Given the description of an element on the screen output the (x, y) to click on. 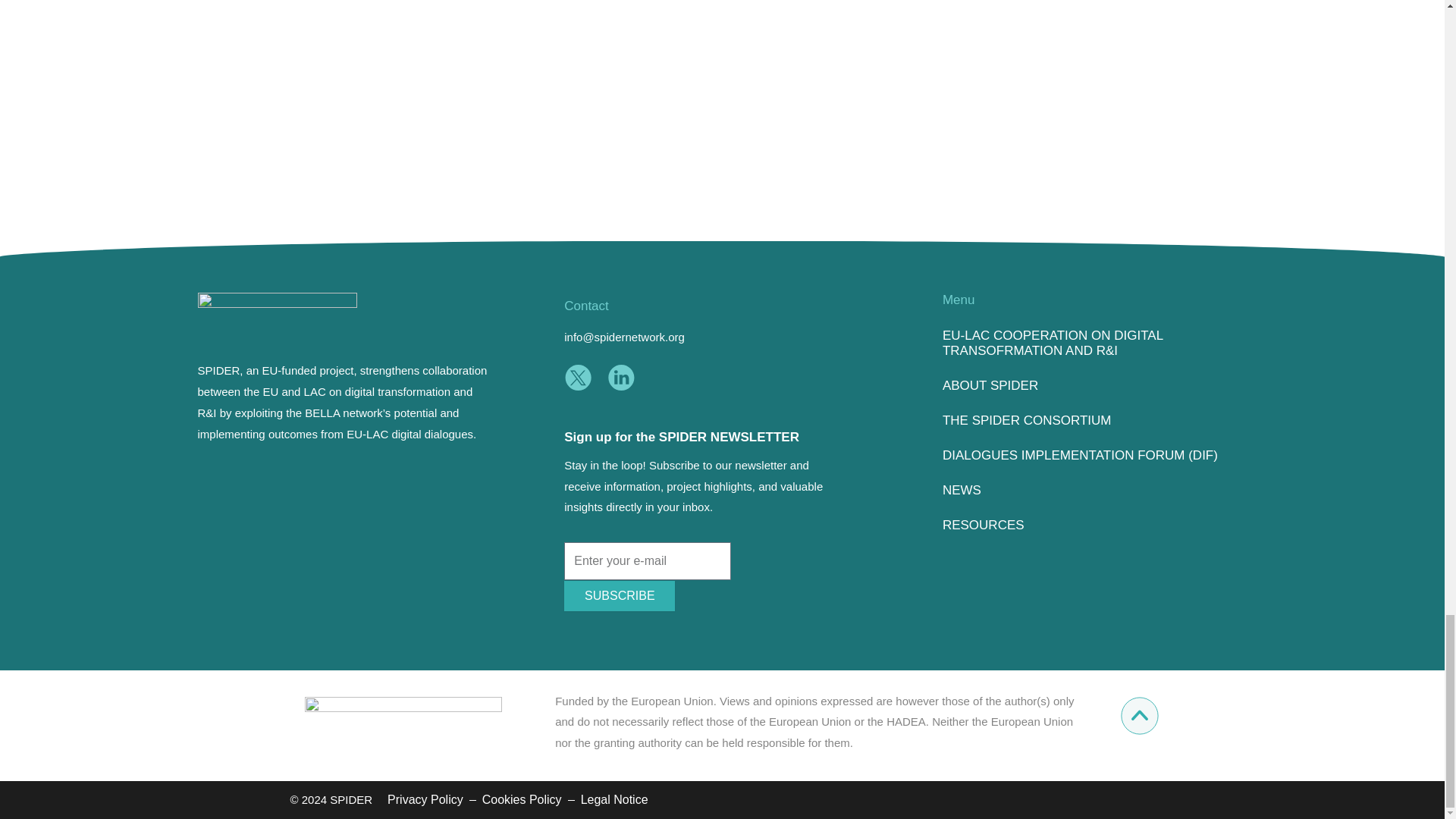
THE SPIDER CONSORTIUM (1094, 420)
ABOUT SPIDER (1094, 385)
SUBSCRIBE (619, 595)
